Given the description of an element on the screen output the (x, y) to click on. 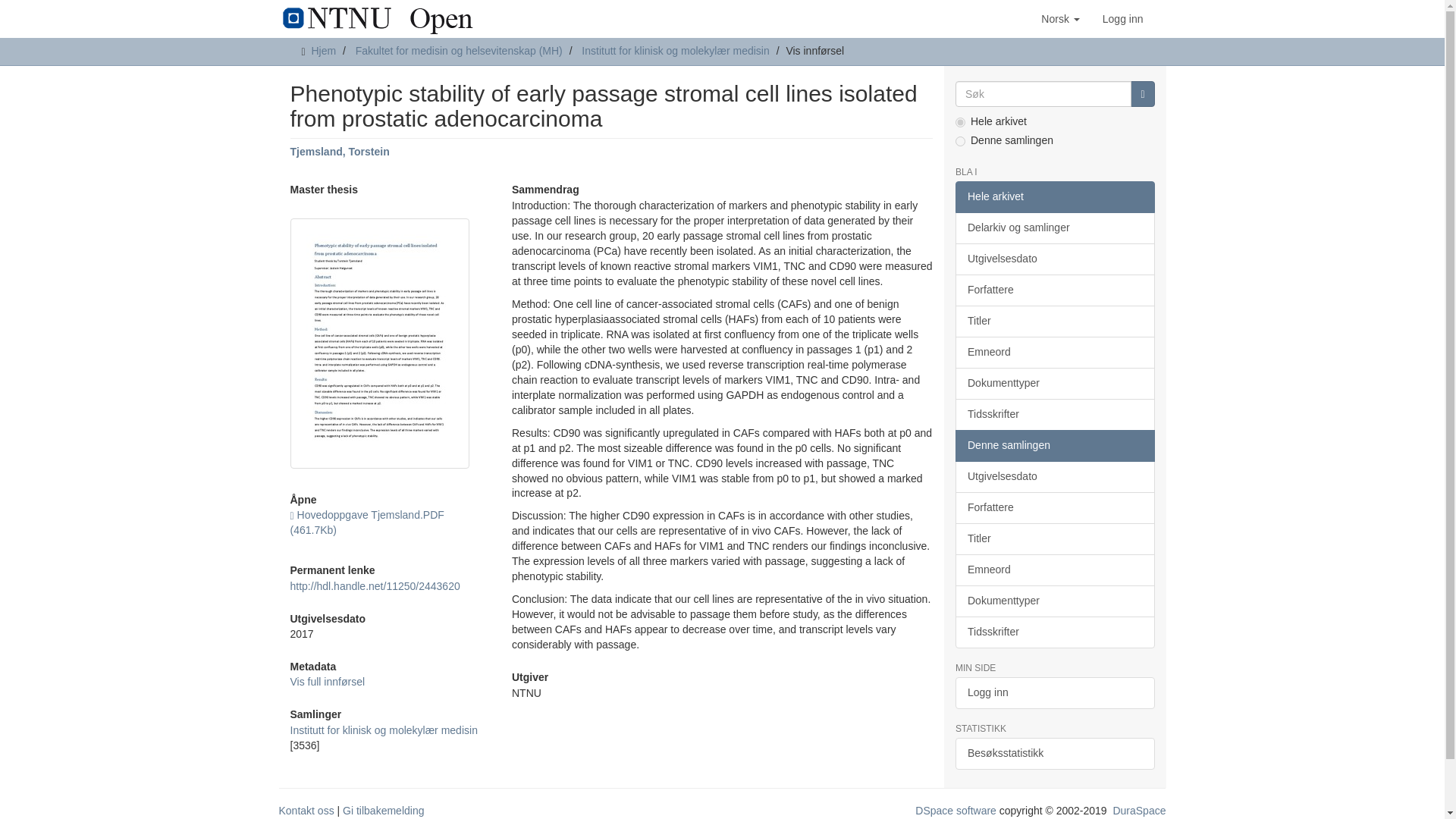
Hjem (323, 50)
Utgivelsesdato (1054, 259)
Dokumenttyper (1054, 383)
Delarkiv og samlinger (1054, 228)
Forfattere (1054, 290)
Hele arkivet (1054, 196)
Norsk  (1059, 18)
Logg inn (1122, 18)
Tjemsland, Torstein (338, 151)
Titler (1054, 321)
Emneord (1054, 352)
Tidsskrifter (1054, 414)
